Given the description of an element on the screen output the (x, y) to click on. 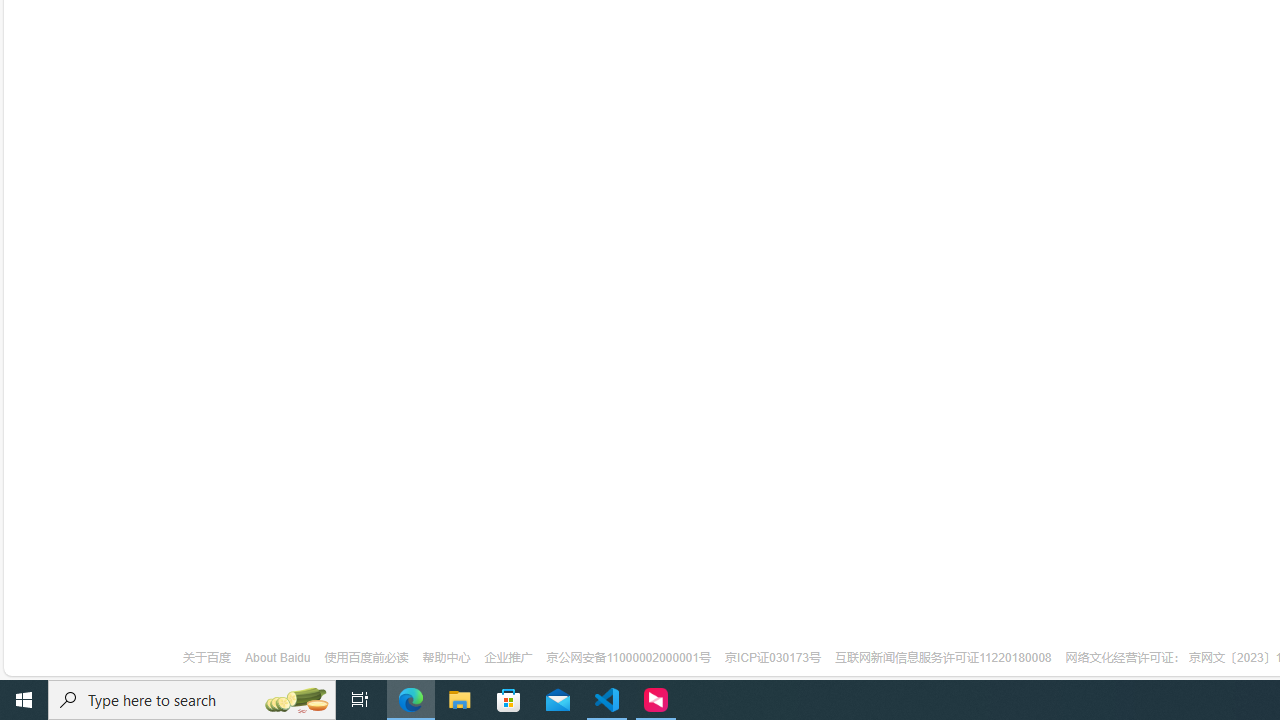
About Baidu (277, 657)
